Given the description of an element on the screen output the (x, y) to click on. 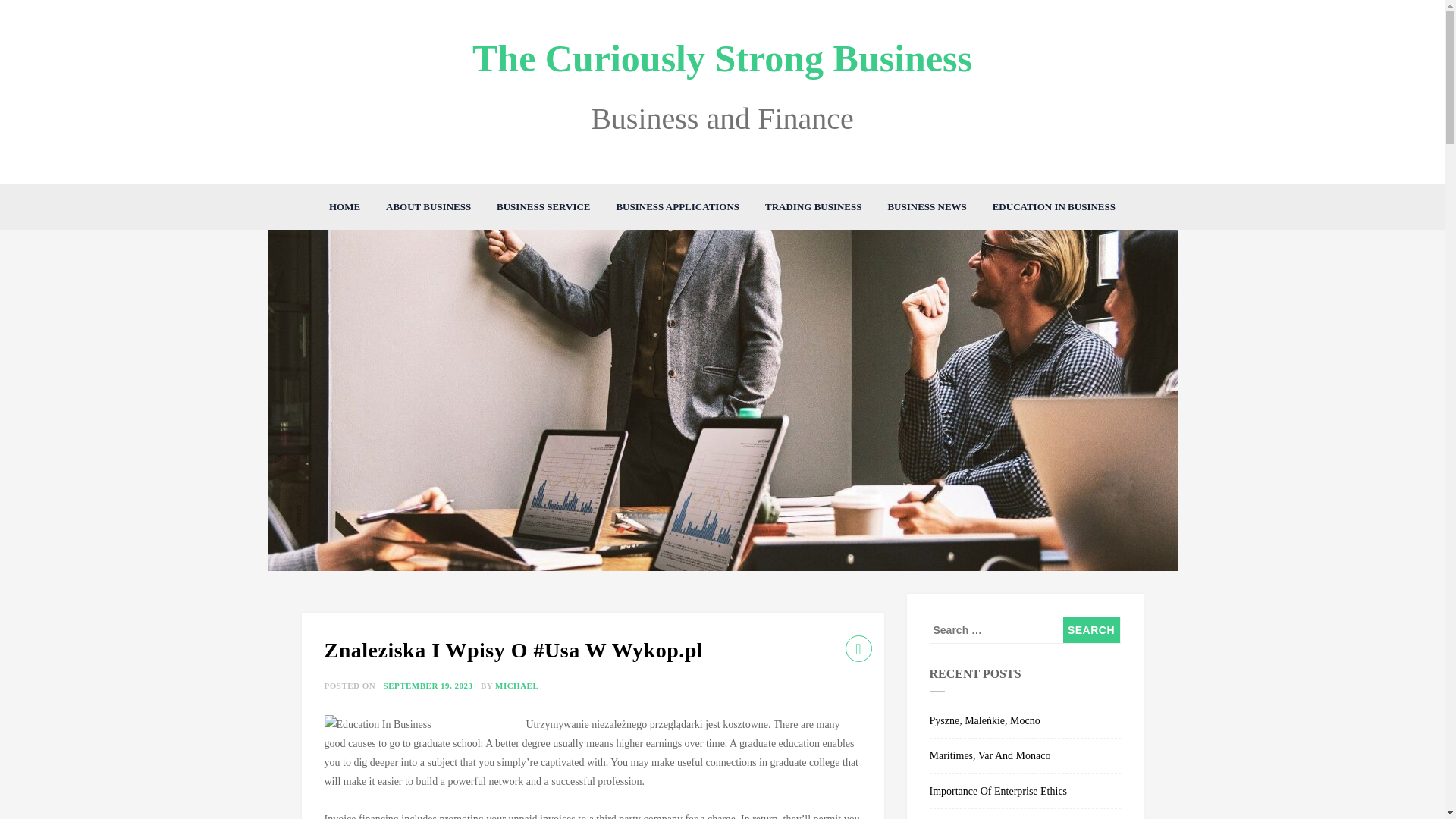
EDUCATION IN BUSINESS (1053, 207)
Search (1090, 629)
TRADING BUSINESS (813, 207)
HOME (344, 207)
SEPTEMBER 19, 2023 (428, 685)
BUSINESS NEWS (926, 207)
ABOUT BUSINESS (427, 207)
Search (1090, 629)
BUSINESS APPLICATIONS (677, 207)
MICHAEL (516, 685)
BUSINESS SERVICE (542, 207)
Maritimes, Var And Monaco (1025, 755)
Search (1090, 629)
The Curiously Strong Business (721, 57)
Shortage Of Cash For Small Business On Reopening (1025, 814)
